Given the description of an element on the screen output the (x, y) to click on. 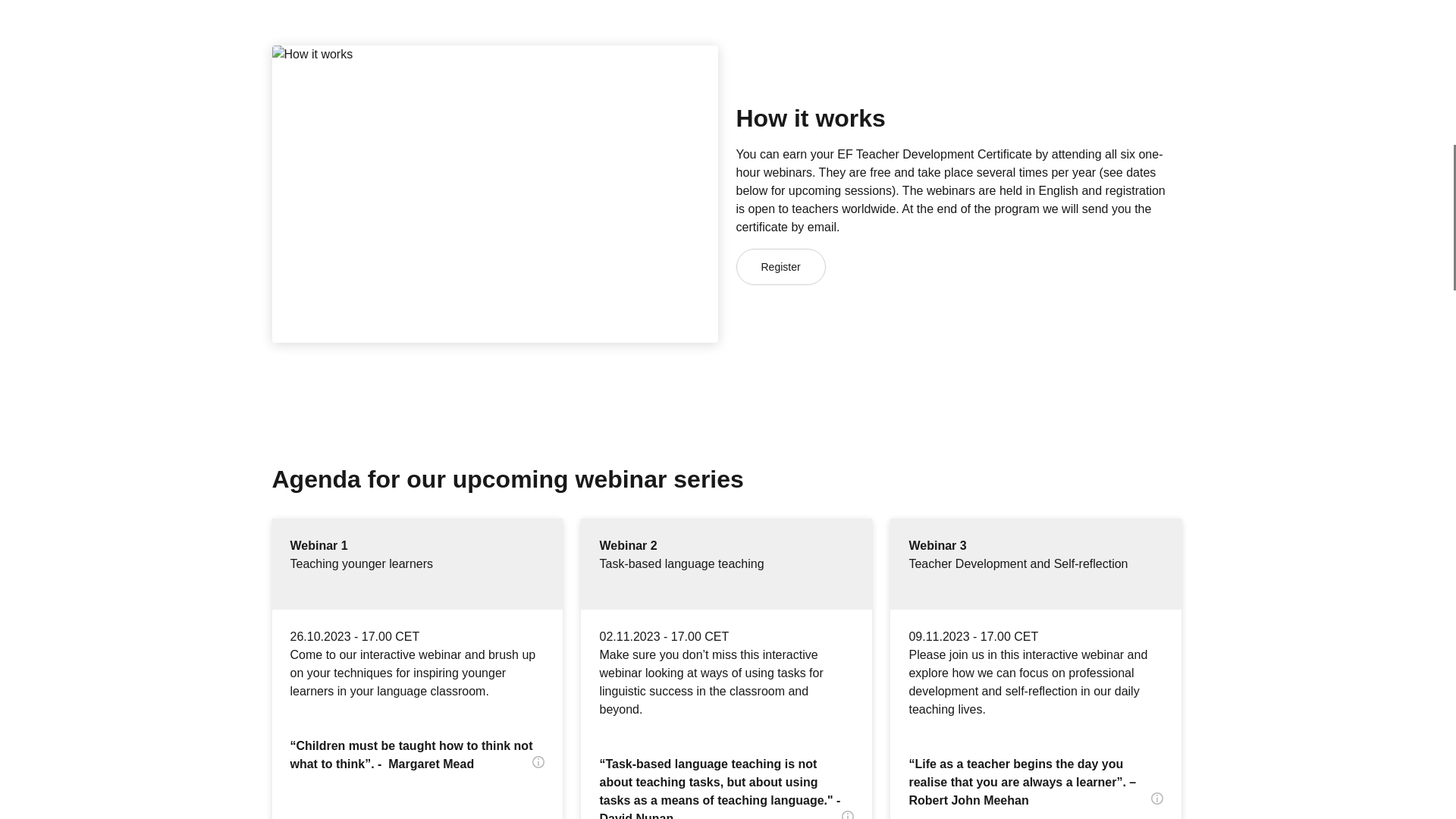
Teacher Development and Self-reflection (1035, 573)
Task-based language teaching (725, 573)
Teaching younger learners (416, 573)
